Given the description of an element on the screen output the (x, y) to click on. 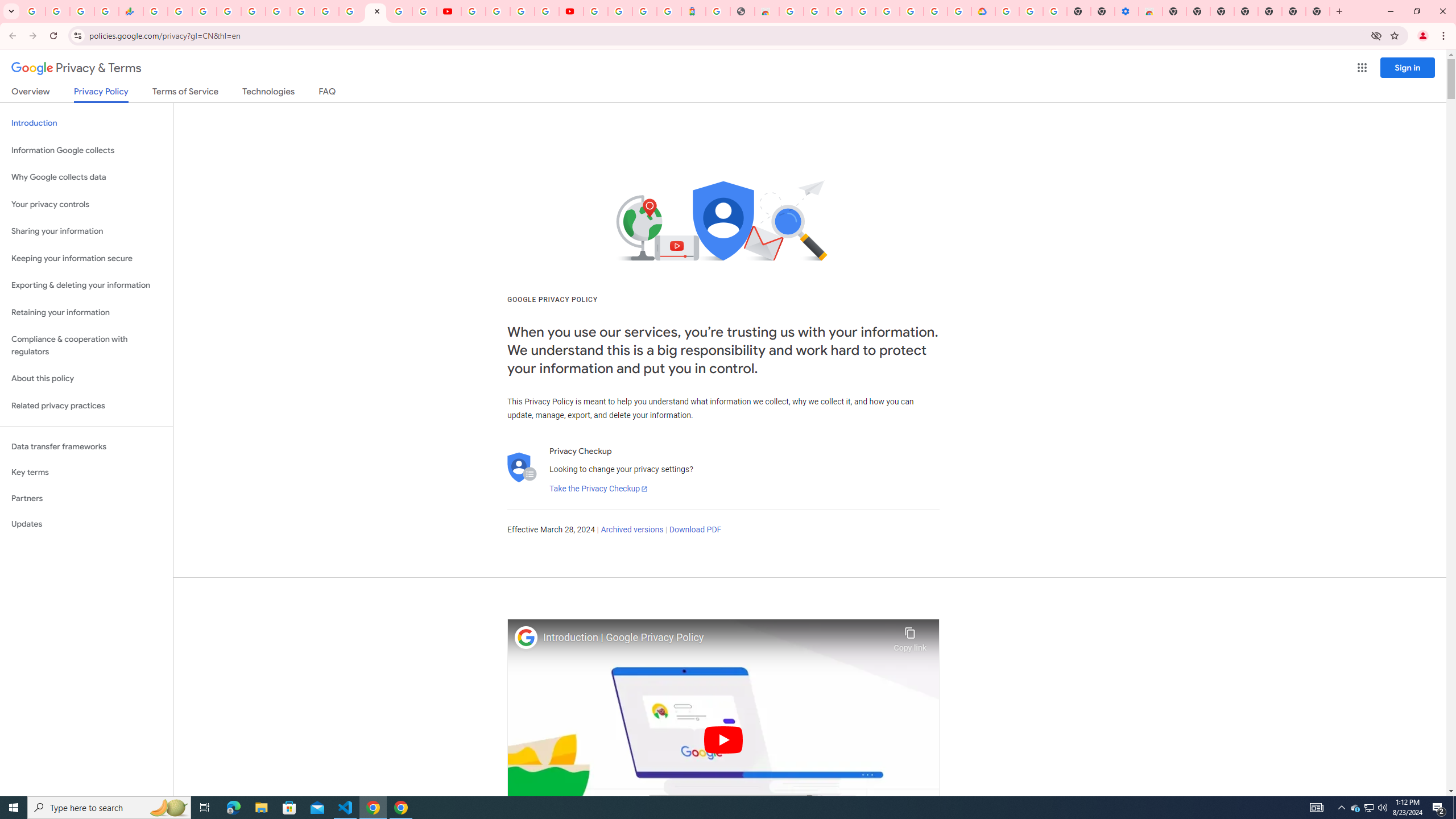
Introduction | Google Privacy Policy (715, 637)
